Given the description of an element on the screen output the (x, y) to click on. 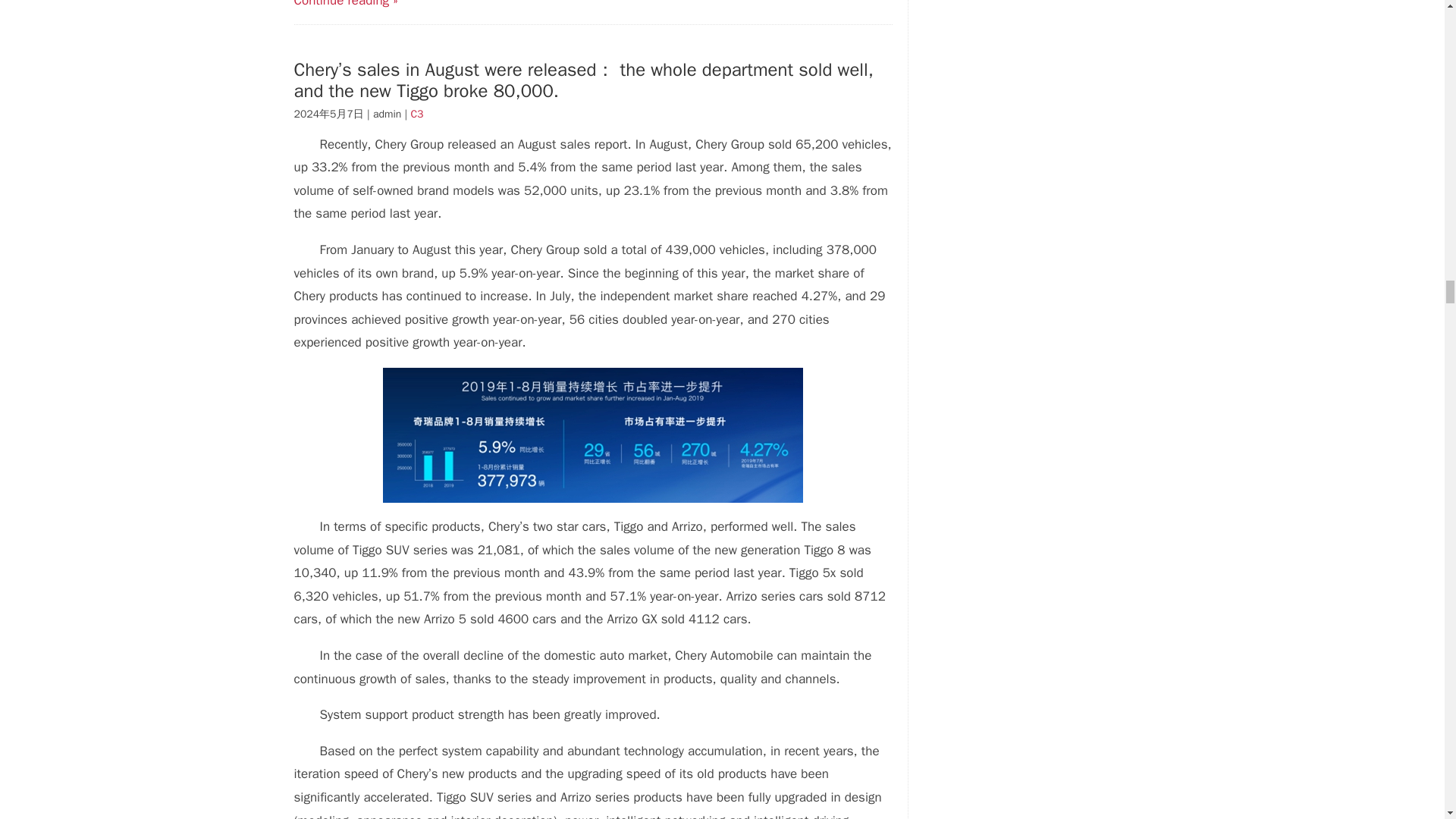
C3 (416, 113)
